Given the description of an element on the screen output the (x, y) to click on. 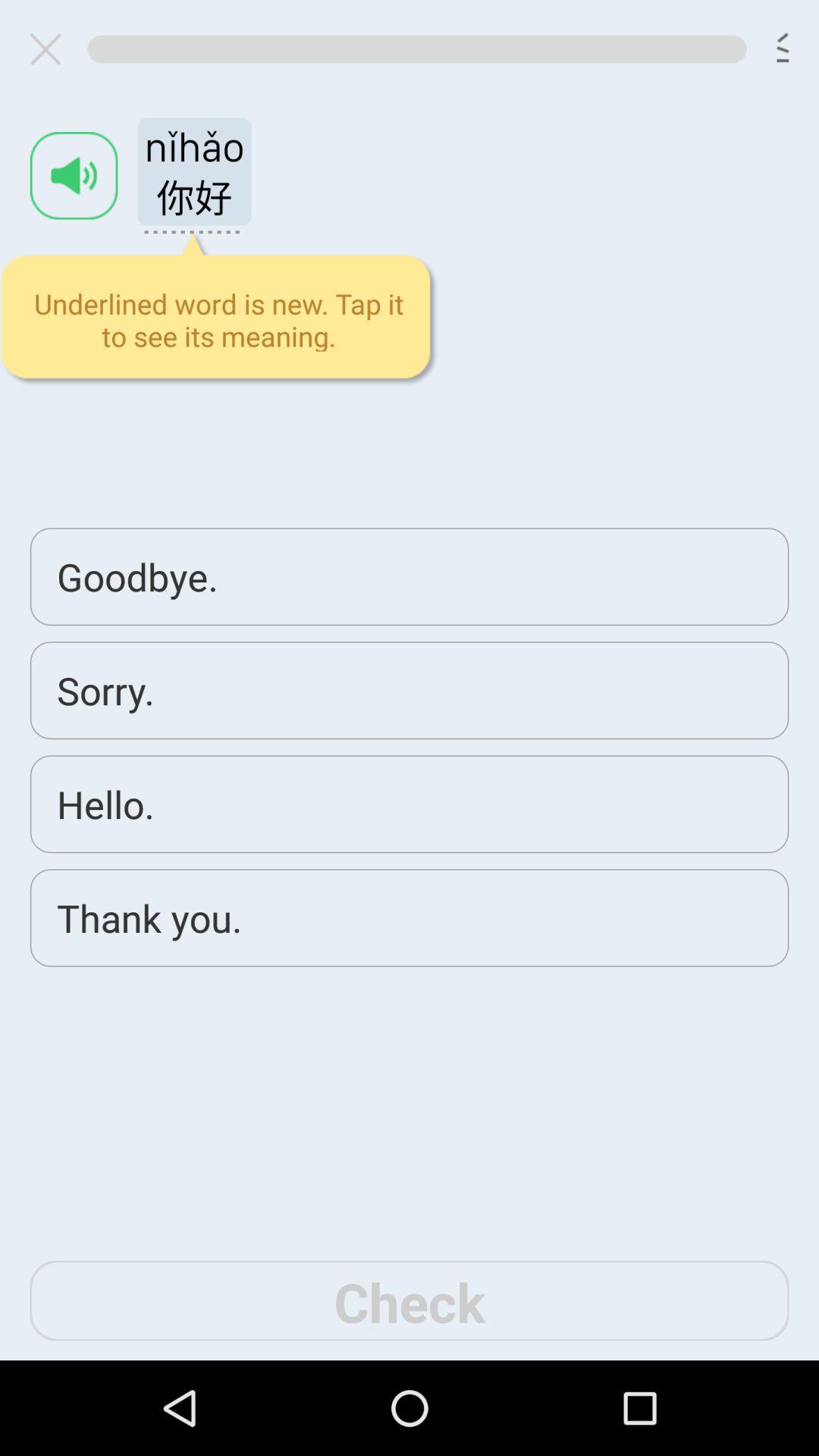
say hello in chinese (409, 679)
